Given the description of an element on the screen output the (x, y) to click on. 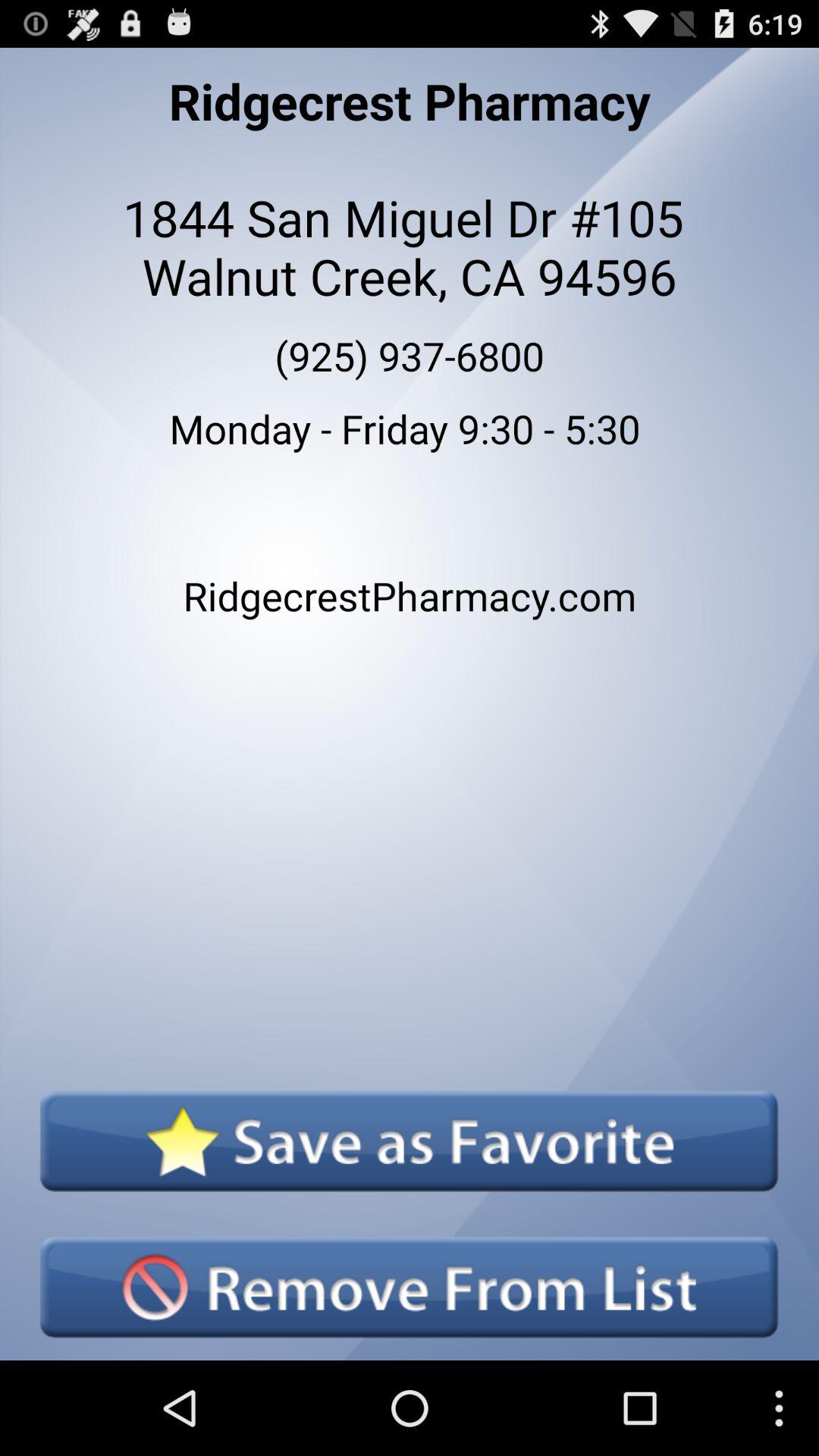
tap icon below the ridgecrestpharmacy.com icon (408, 1141)
